Given the description of an element on the screen output the (x, y) to click on. 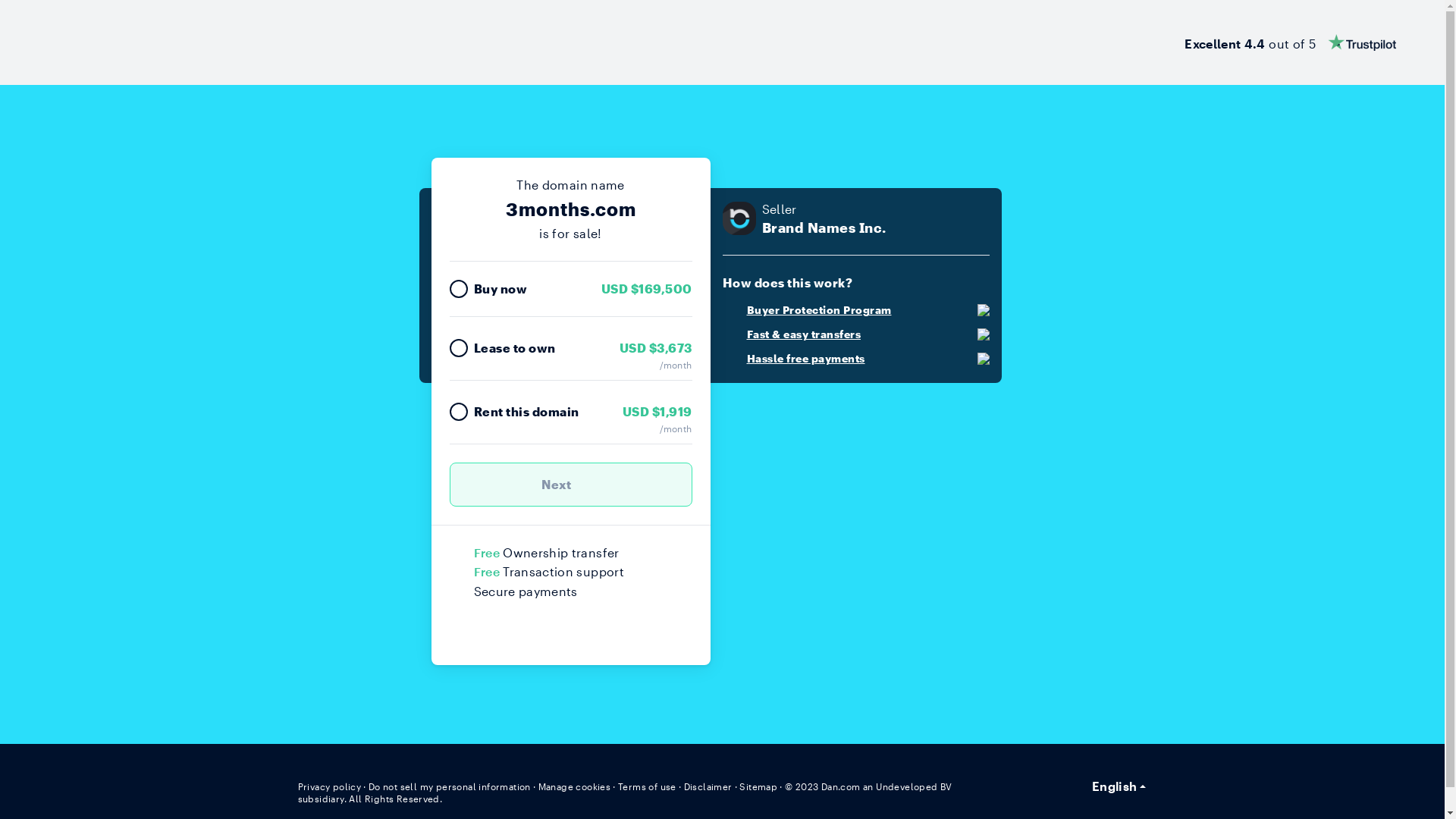
Disclaimer Element type: text (708, 786)
Excellent 4.4 out of 5 Element type: text (1290, 42)
Do not sell my personal information Element type: text (449, 786)
English Element type: text (1119, 786)
Next
) Element type: text (569, 484)
Terms of use Element type: text (647, 786)
Manage cookies Element type: text (574, 786)
Sitemap Element type: text (758, 786)
Privacy policy Element type: text (328, 786)
